Given the description of an element on the screen output the (x, y) to click on. 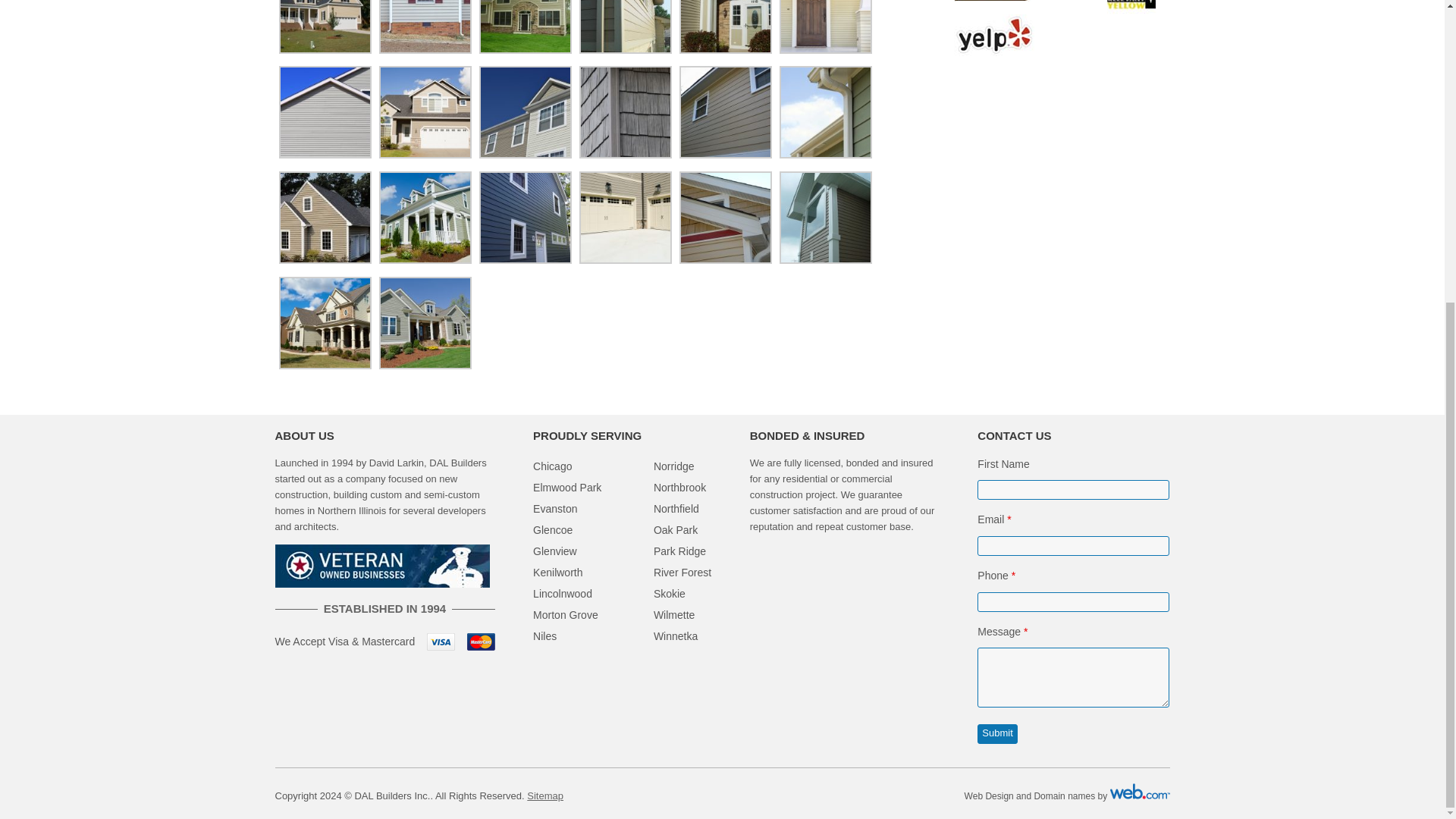
Submit (996, 733)
